Given the description of an element on the screen output the (x, y) to click on. 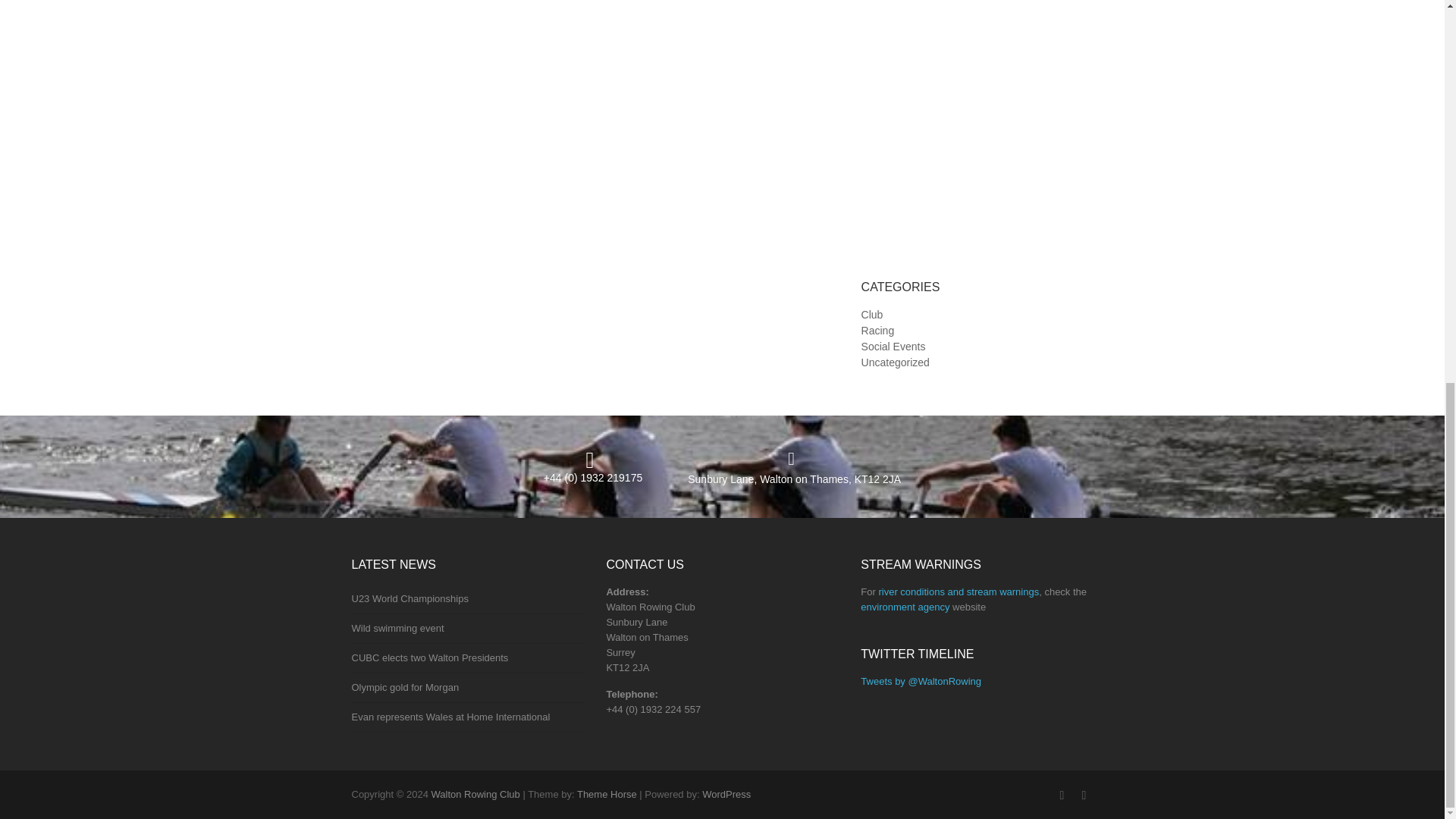
Theme Horse (606, 794)
Walton Rowing Club on Twitter (1084, 794)
WordPress (726, 794)
Call Us (592, 478)
Walton Rowing Club (474, 794)
My Location (794, 479)
Walton Rowing Club on Facebook (1061, 794)
